Given the description of an element on the screen output the (x, y) to click on. 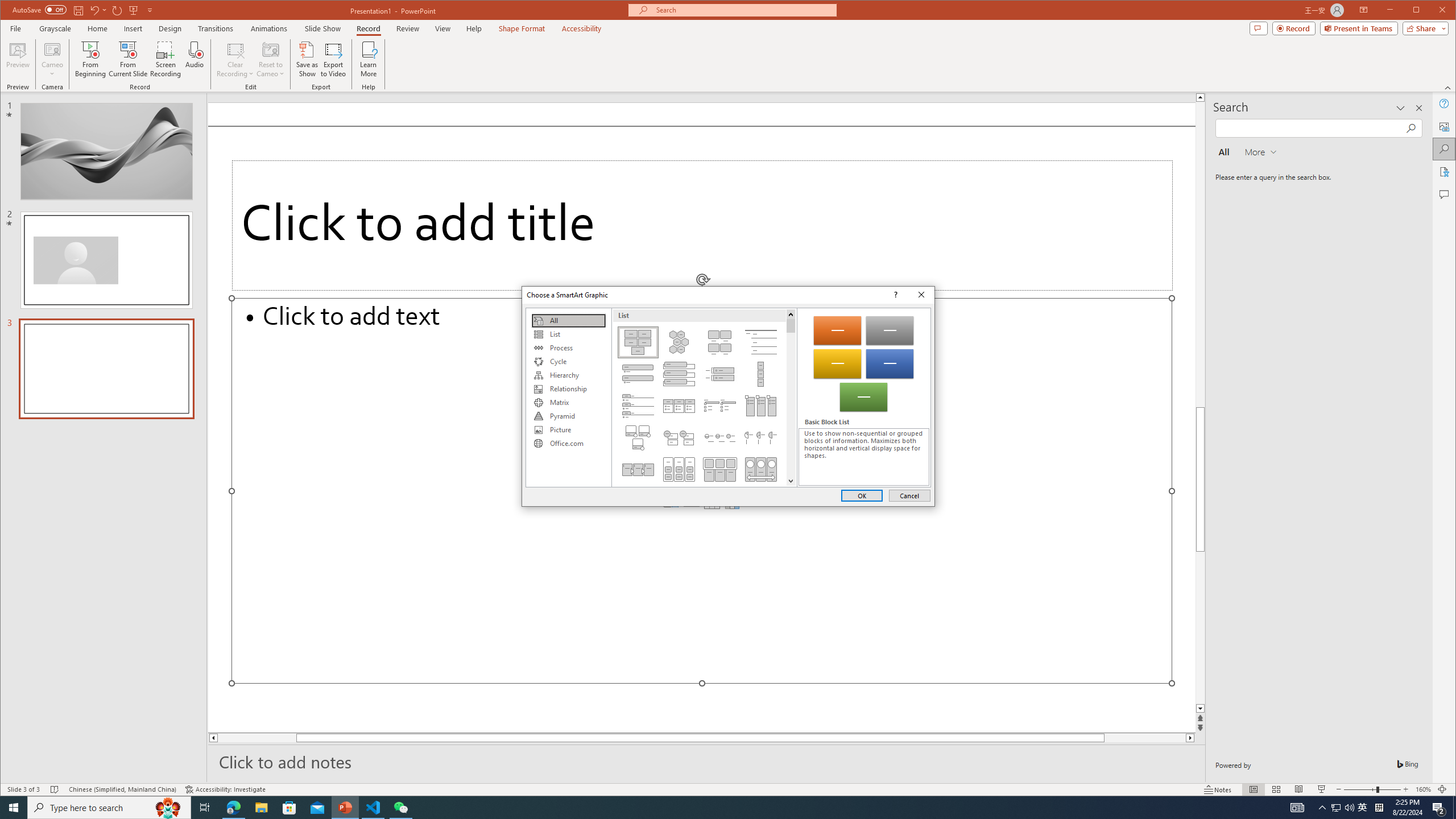
Grouped List (678, 469)
Learn More (368, 59)
Zoom 160% (1422, 789)
Audio (194, 59)
Cancel (909, 495)
Picture Accent List (761, 405)
Screen Recording (165, 59)
Stacked List (678, 437)
Action Center, 2 new notifications (1439, 807)
Reset to Cameo (269, 59)
